Given the description of an element on the screen output the (x, y) to click on. 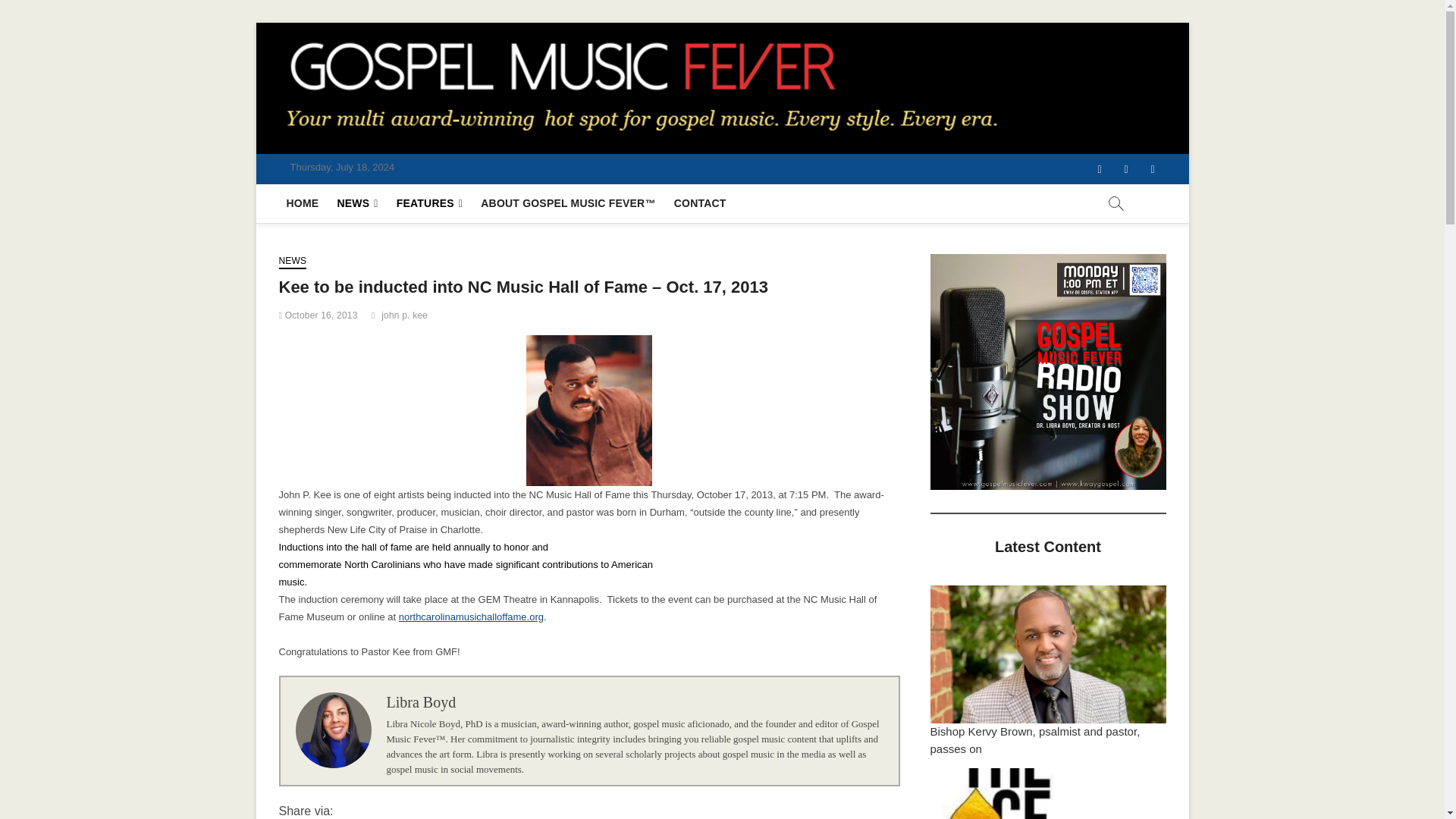
HOME (302, 202)
Bishop Kervy Brown, psalmist and pastor, passes on (1035, 739)
FEATURES (429, 203)
NEWS (357, 203)
Libra Boyd (422, 701)
Facebook (1099, 169)
NEWS (293, 262)
Youtube (1152, 169)
john p. kee (405, 317)
CONTACT (699, 202)
October 16, 2013 (318, 315)
northcarolinamusichalloffame.org (470, 616)
October 16, 2013 (318, 315)
Twitter (1126, 169)
